Given the description of an element on the screen output the (x, y) to click on. 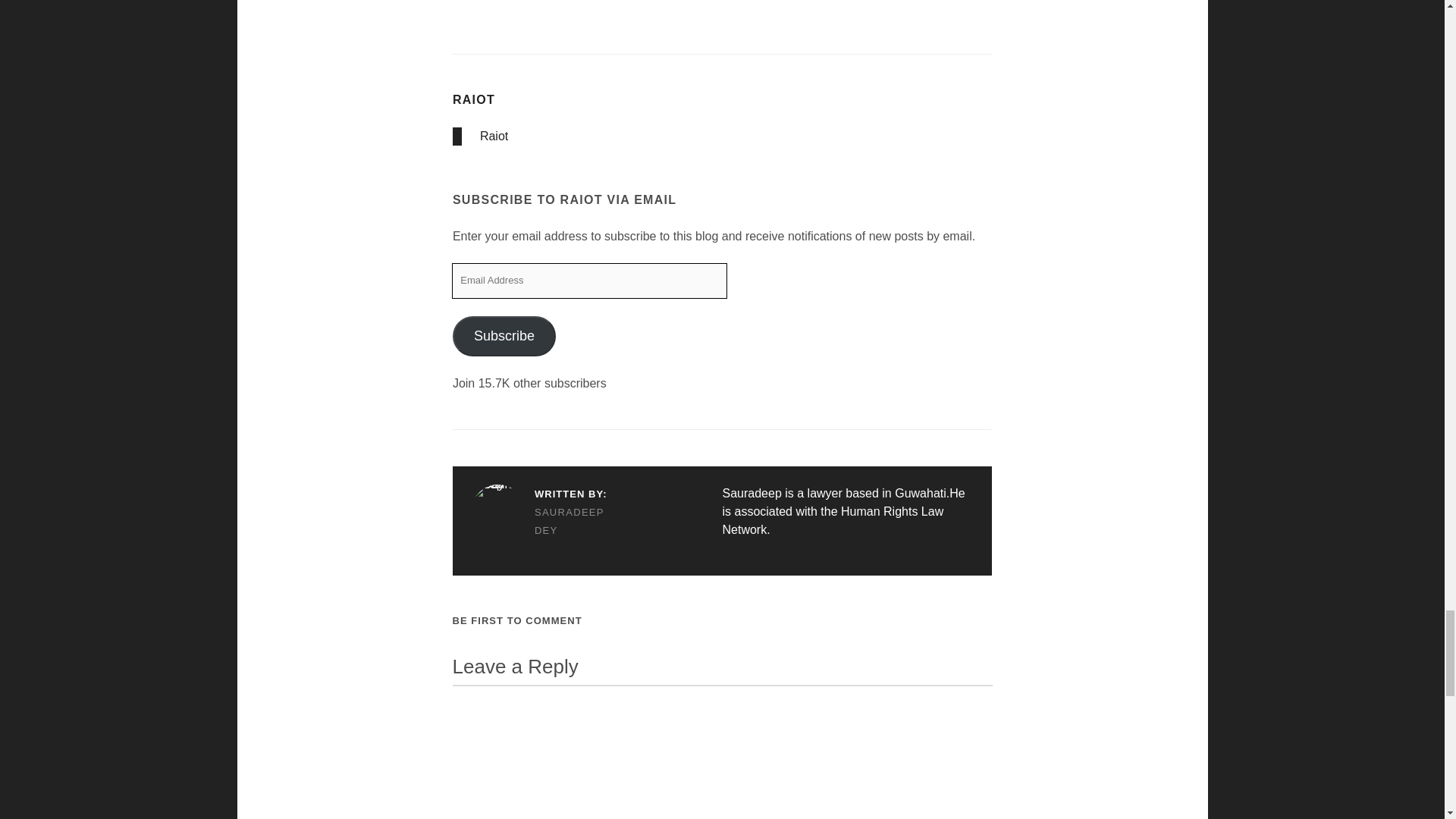
Subscribe (504, 336)
Raiot (494, 135)
RAIOT (473, 99)
